Given the description of an element on the screen output the (x, y) to click on. 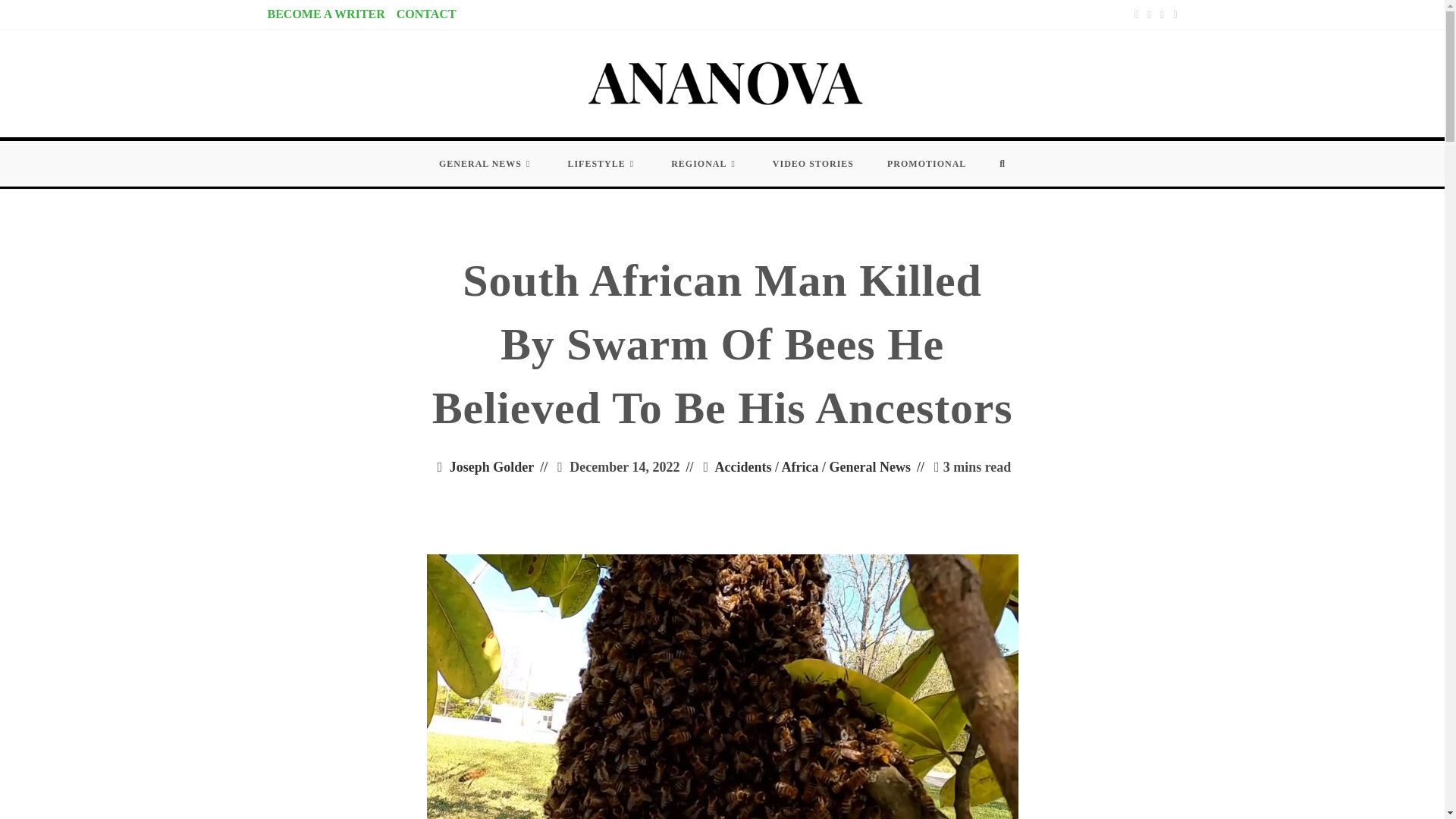
LIFESTYLE (601, 163)
CONTACT (426, 13)
BECOME A WRITER (325, 13)
GENERAL NEWS (486, 163)
